Given the description of an element on the screen output the (x, y) to click on. 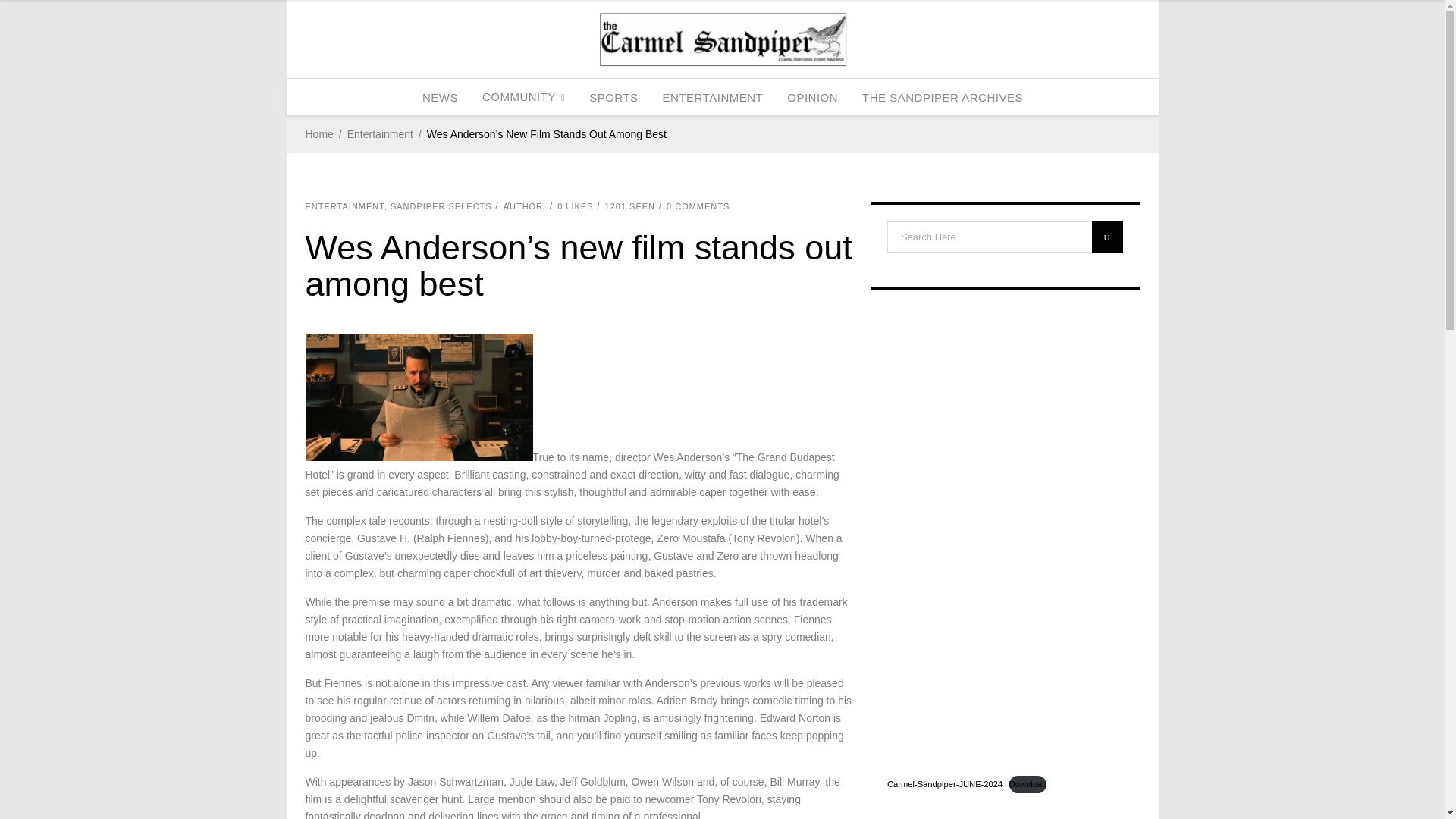
ENTERTAINMENT (344, 205)
U (1107, 236)
THE SANDPIPER ARCHIVES (942, 96)
U (1107, 236)
0 COMMENTS (697, 205)
NEWS (440, 96)
AUTHOR: (525, 205)
SPORTS (612, 96)
ENTERTAINMENT (713, 96)
OPINION (812, 96)
Home (318, 134)
Entertainment (380, 134)
SANDPIPER SELECTS (441, 205)
COMMUNITY (523, 96)
